Given the description of an element on the screen output the (x, y) to click on. 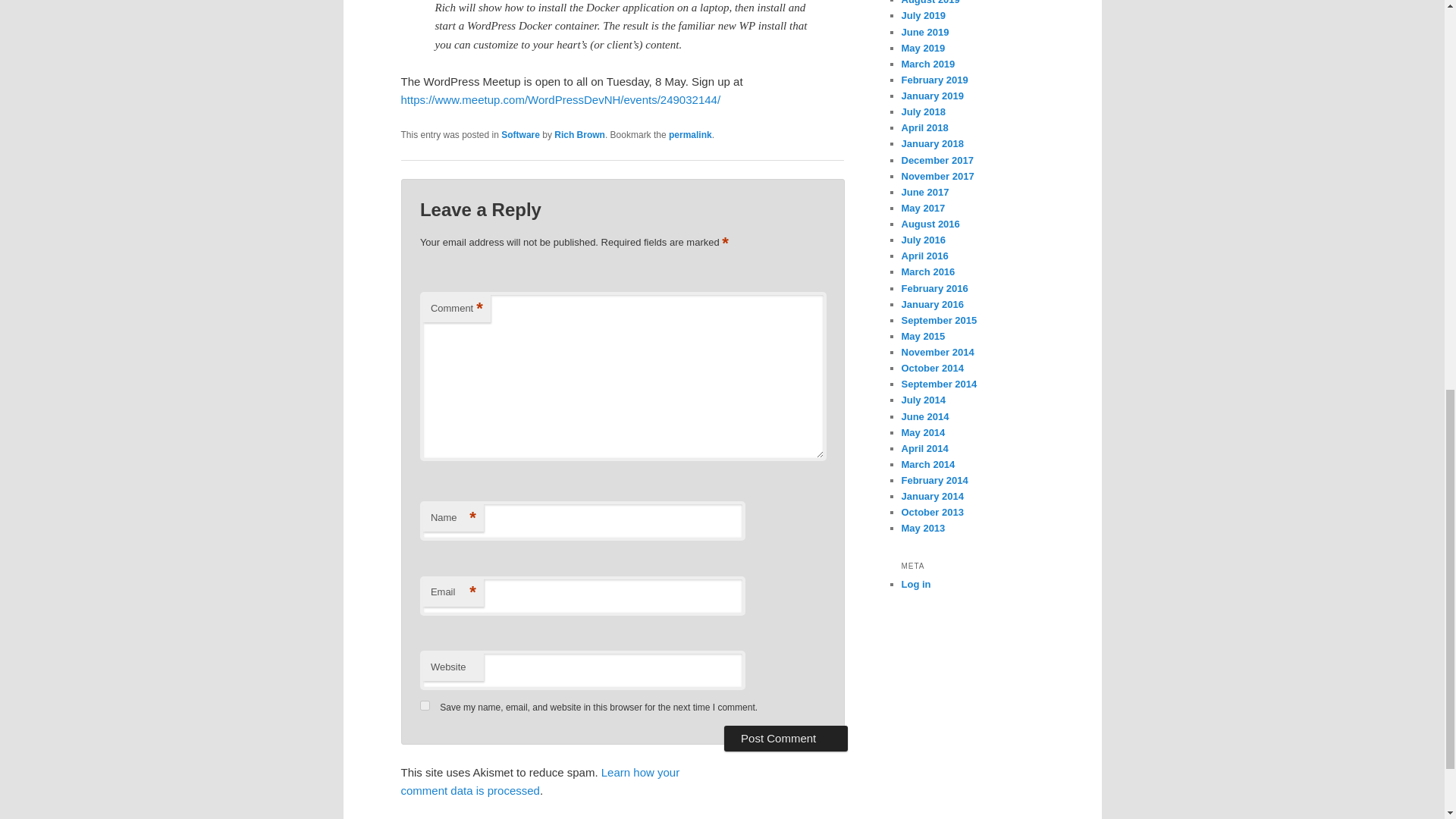
permalink (689, 134)
Post Comment (785, 738)
Rich Brown (579, 134)
yes (424, 705)
Software (520, 134)
Permalink to WordPress Meetup in Londonderry (689, 134)
Learn how your comment data is processed (539, 780)
Post Comment (785, 738)
